Given the description of an element on the screen output the (x, y) to click on. 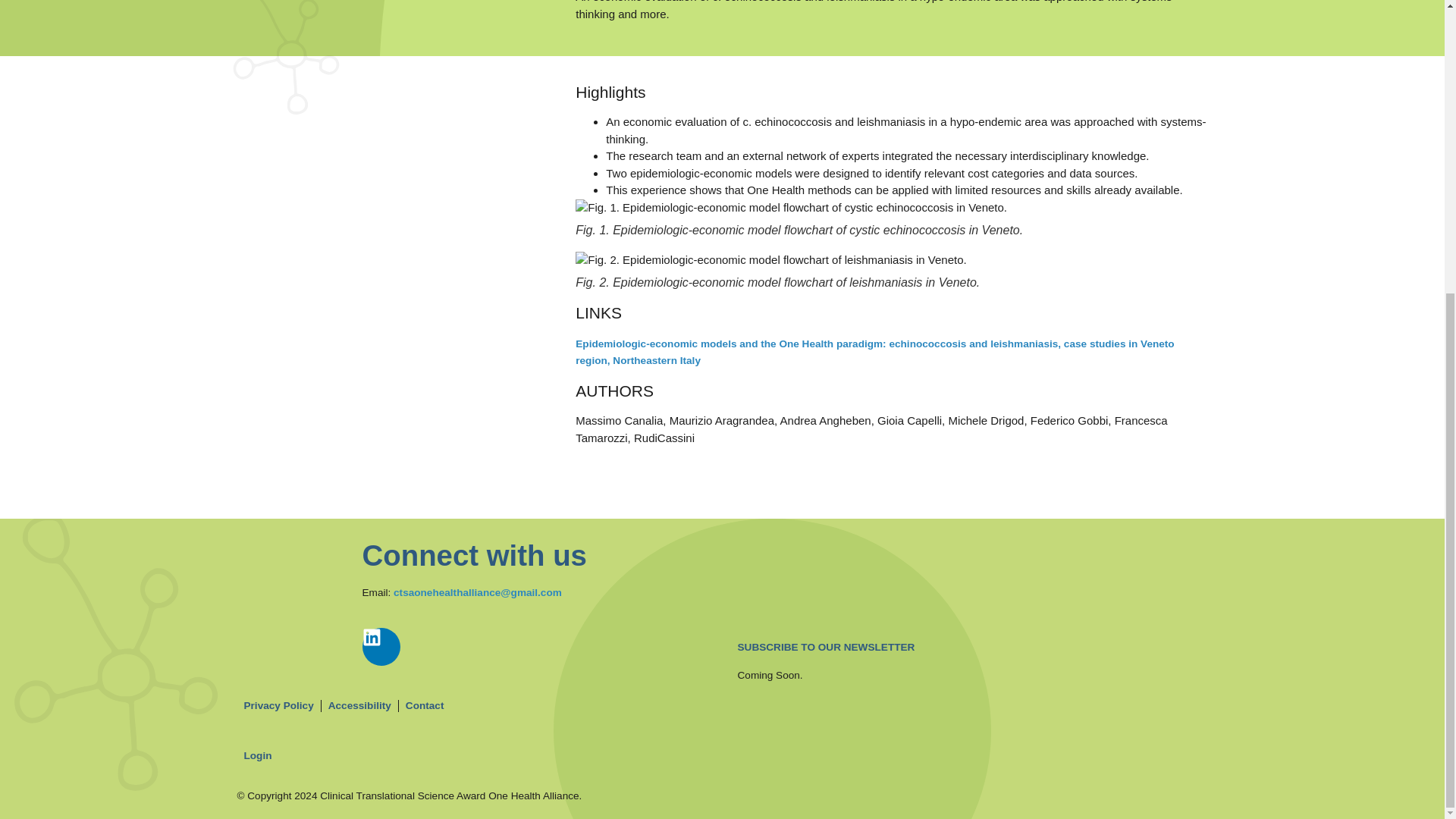
Accessibility (359, 705)
Contact (424, 705)
Privacy Policy (277, 705)
